Given the description of an element on the screen output the (x, y) to click on. 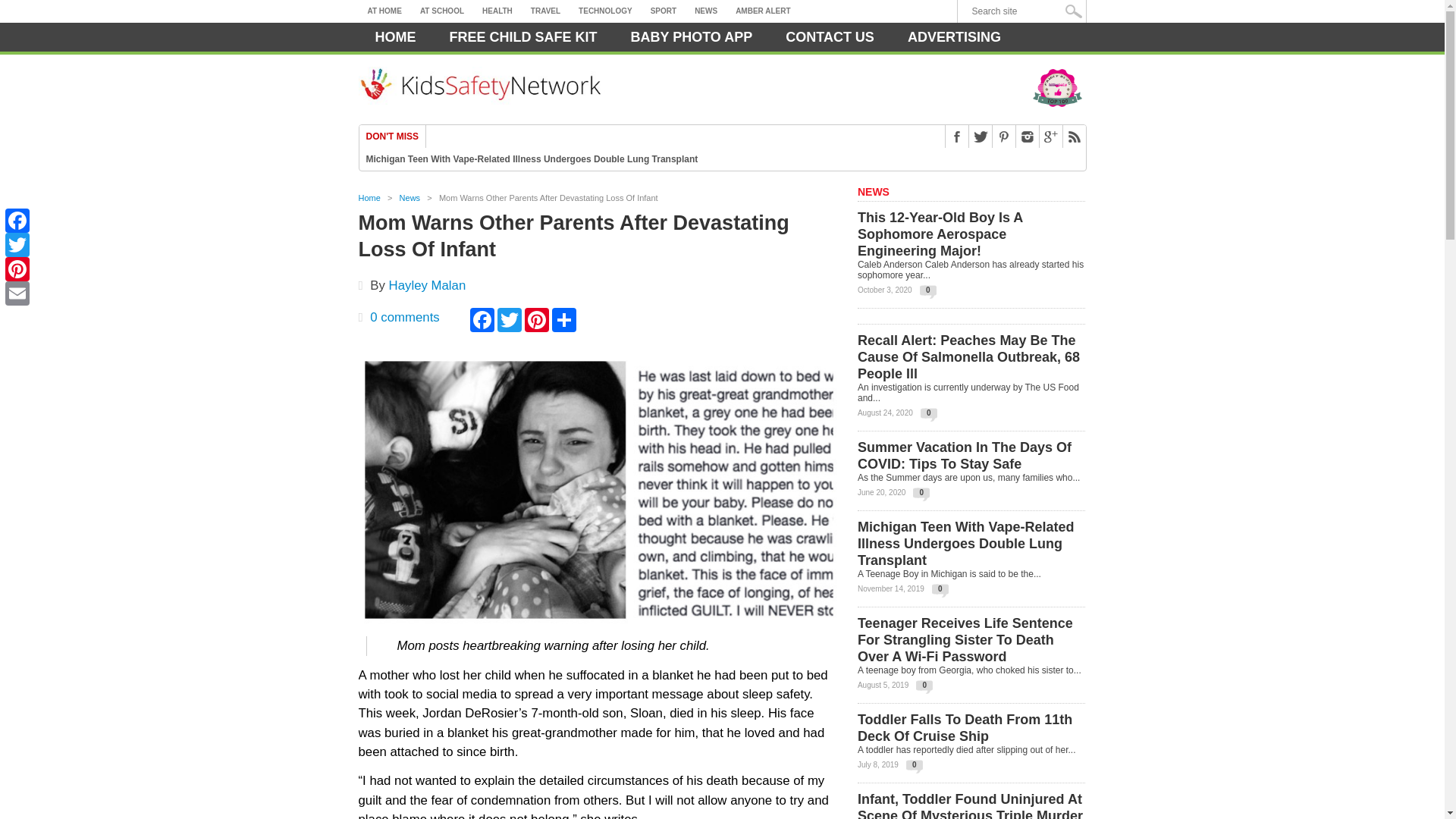
NEWS (705, 11)
TRAVEL (545, 11)
AT SCHOOL (441, 11)
AT HOME (384, 11)
AMBER ALERT (762, 11)
Home (395, 36)
SPORT (663, 11)
Posts by Hayley Malan (426, 285)
TECHNOLOGY (605, 11)
Twitter (17, 244)
Email (17, 293)
Pinterest (17, 269)
Search site (1024, 11)
Facebook (17, 220)
HEALTH (497, 11)
